Given the description of an element on the screen output the (x, y) to click on. 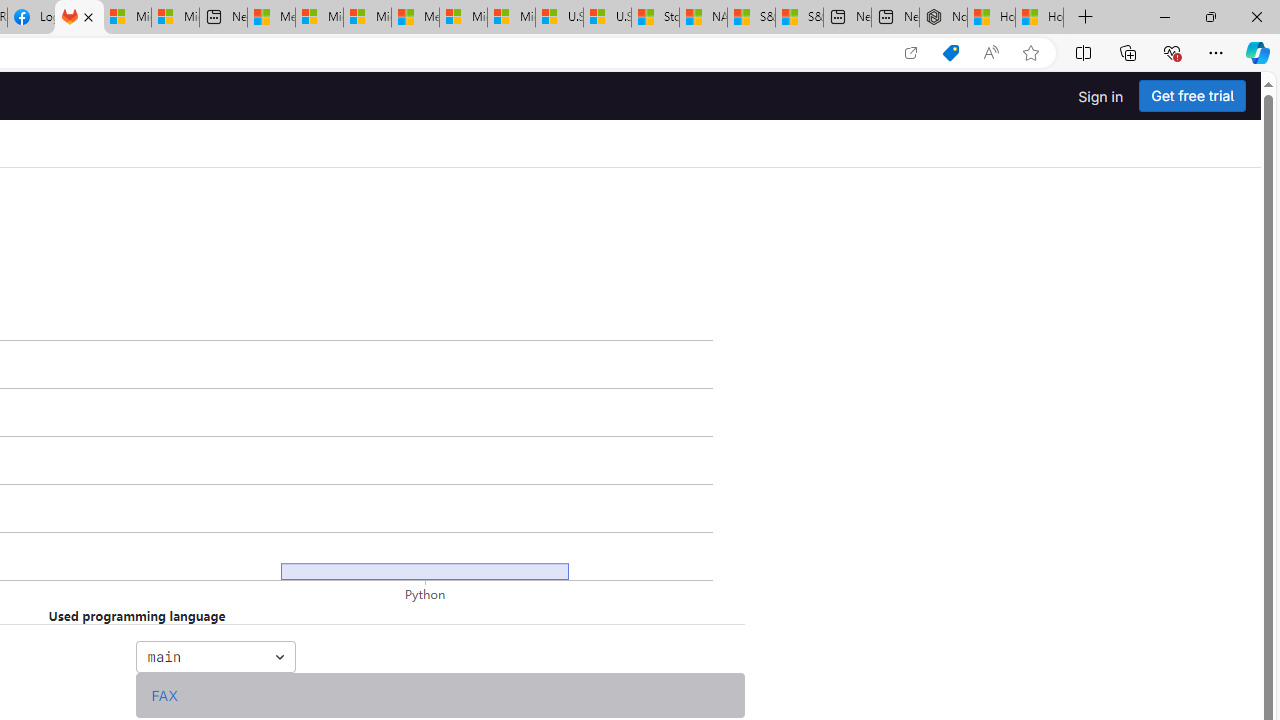
FAX (164, 695)
Sign in (1100, 95)
Shopping in Microsoft Edge (950, 53)
Get free trial (1192, 95)
